Given the description of an element on the screen output the (x, y) to click on. 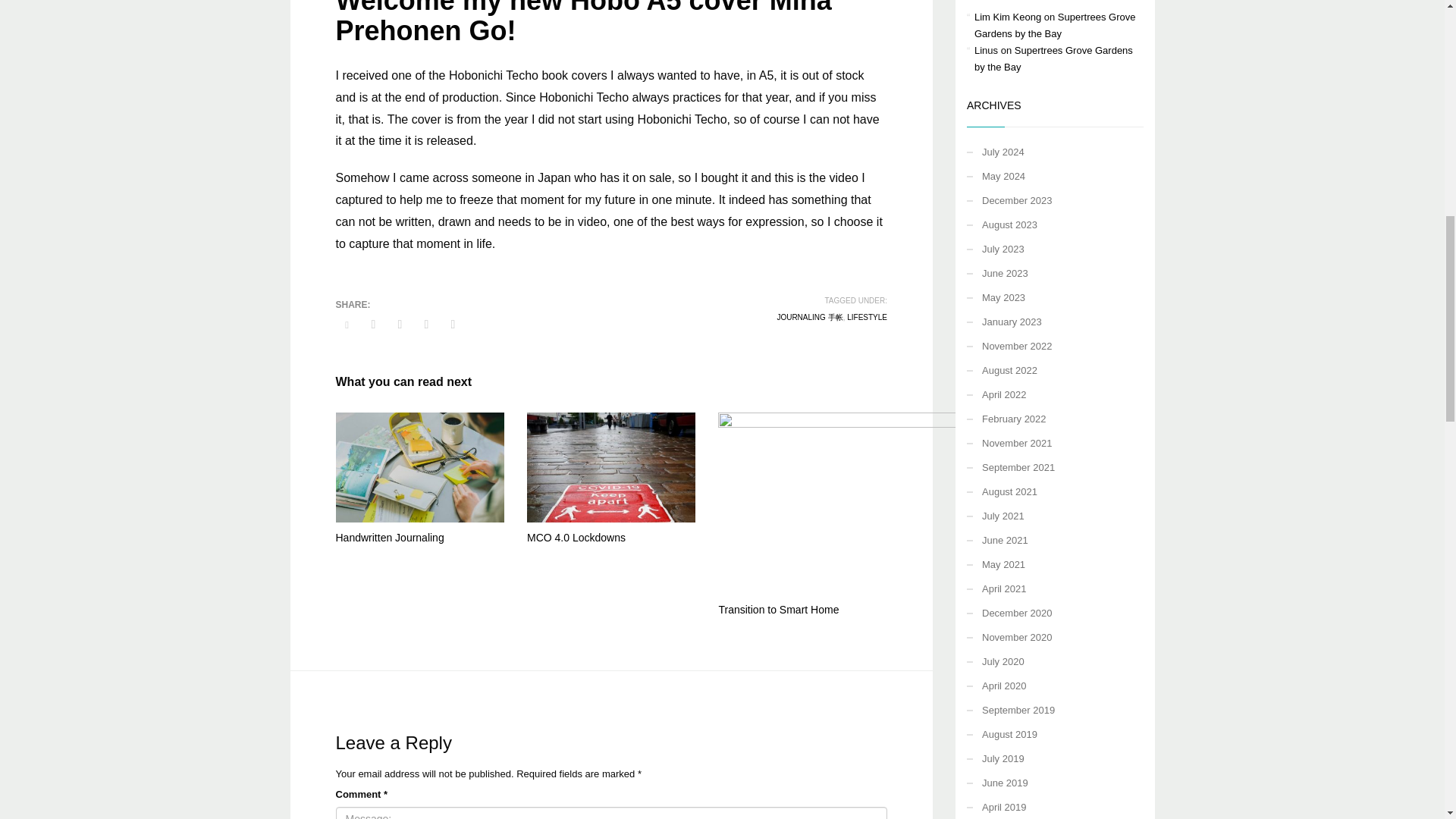
SHARE ON TWITTER (346, 324)
SHARE ON FACEBOOK (373, 323)
SHARE ON GPLUS (399, 323)
SHARE ON PINTEREST (426, 323)
